Given the description of an element on the screen output the (x, y) to click on. 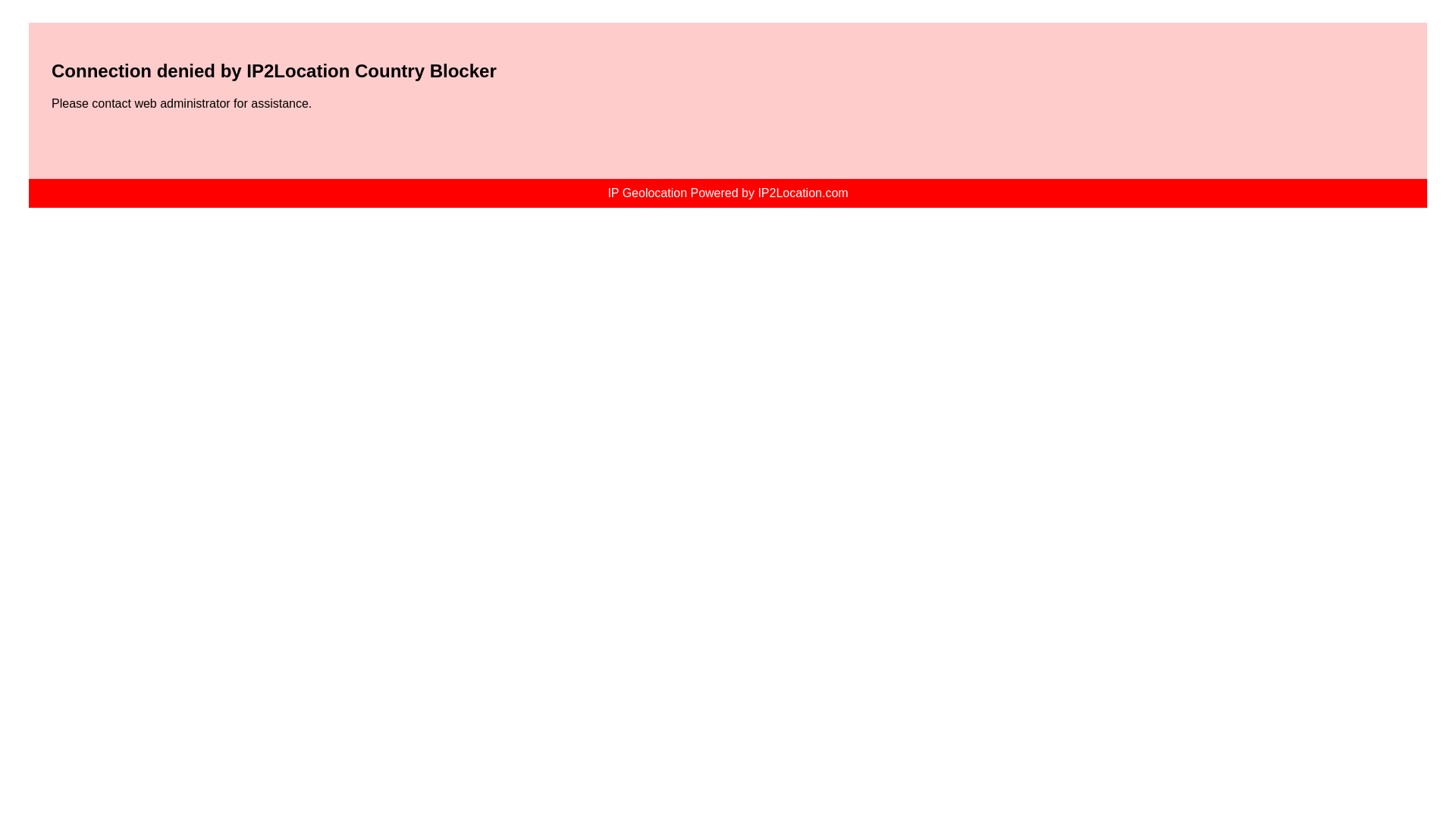
IP Geolocation Powered by IP2Location.com (727, 192)
